Given the description of an element on the screen output the (x, y) to click on. 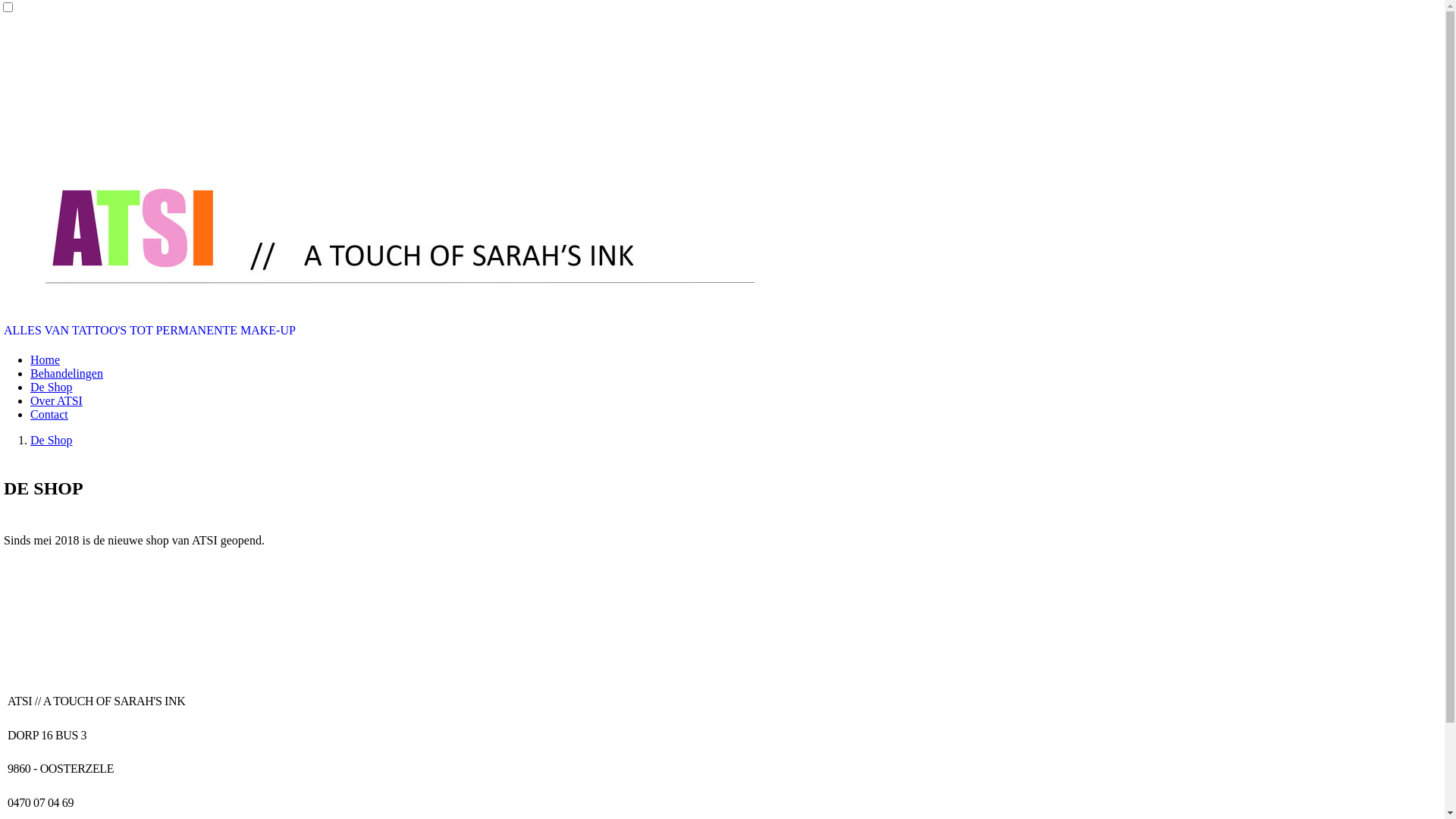
Over ATSI Element type: text (56, 400)
Behandelingen Element type: text (66, 373)
Contact Element type: text (49, 413)
De Shop Element type: text (51, 386)
De Shop Element type: text (51, 439)
Home Element type: text (44, 359)
ALLES VAN TATTOO'S TOT PERMANENTE MAKE-UP Element type: text (149, 329)
